Given the description of an element on the screen output the (x, y) to click on. 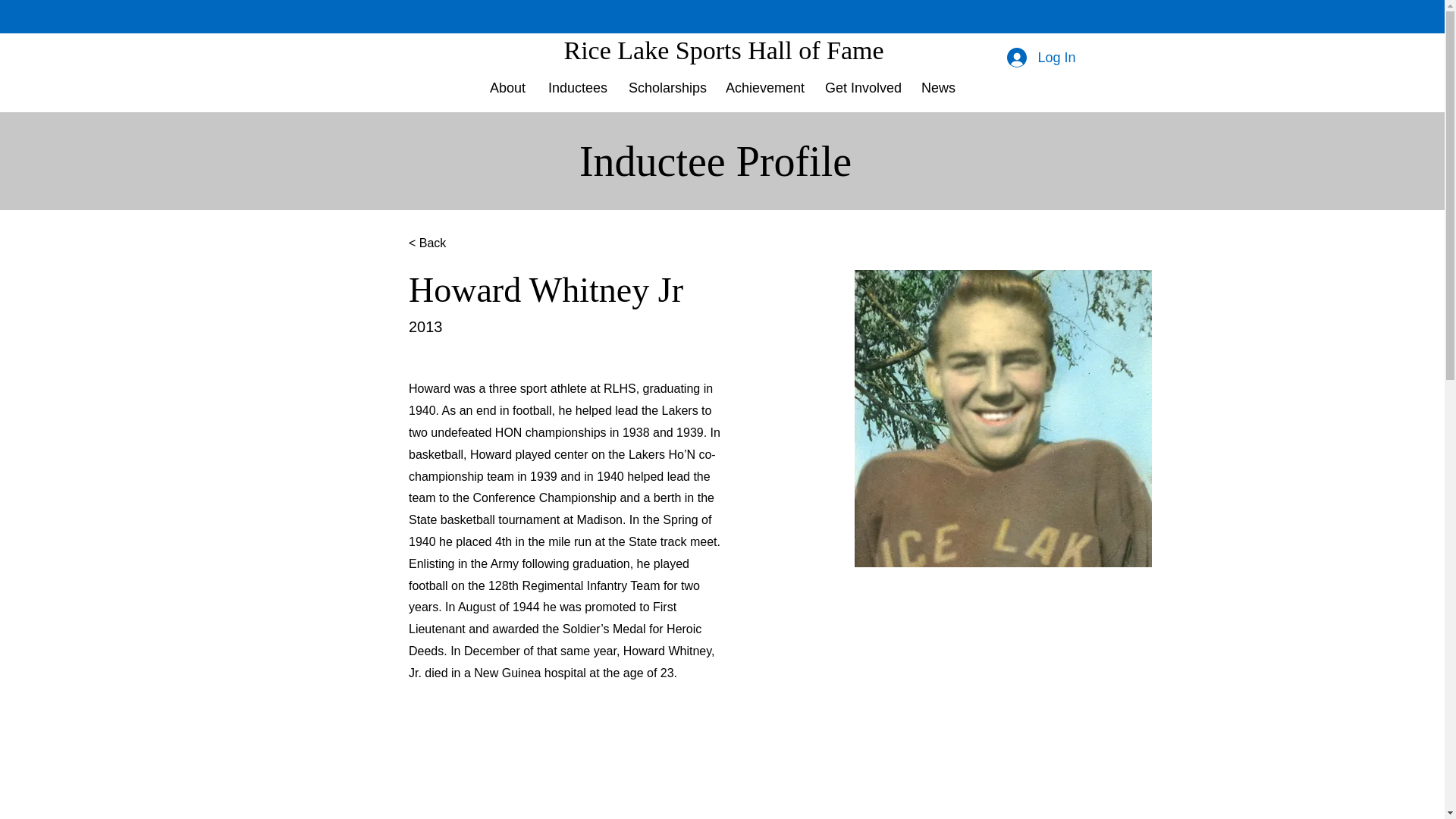
News (937, 87)
Get Involved (861, 87)
Achievement (763, 87)
Inductees (577, 87)
About (508, 87)
Scholarships (665, 87)
Rice Lake Sports Hall of Fame (723, 50)
Log In (1040, 57)
